Given the description of an element on the screen output the (x, y) to click on. 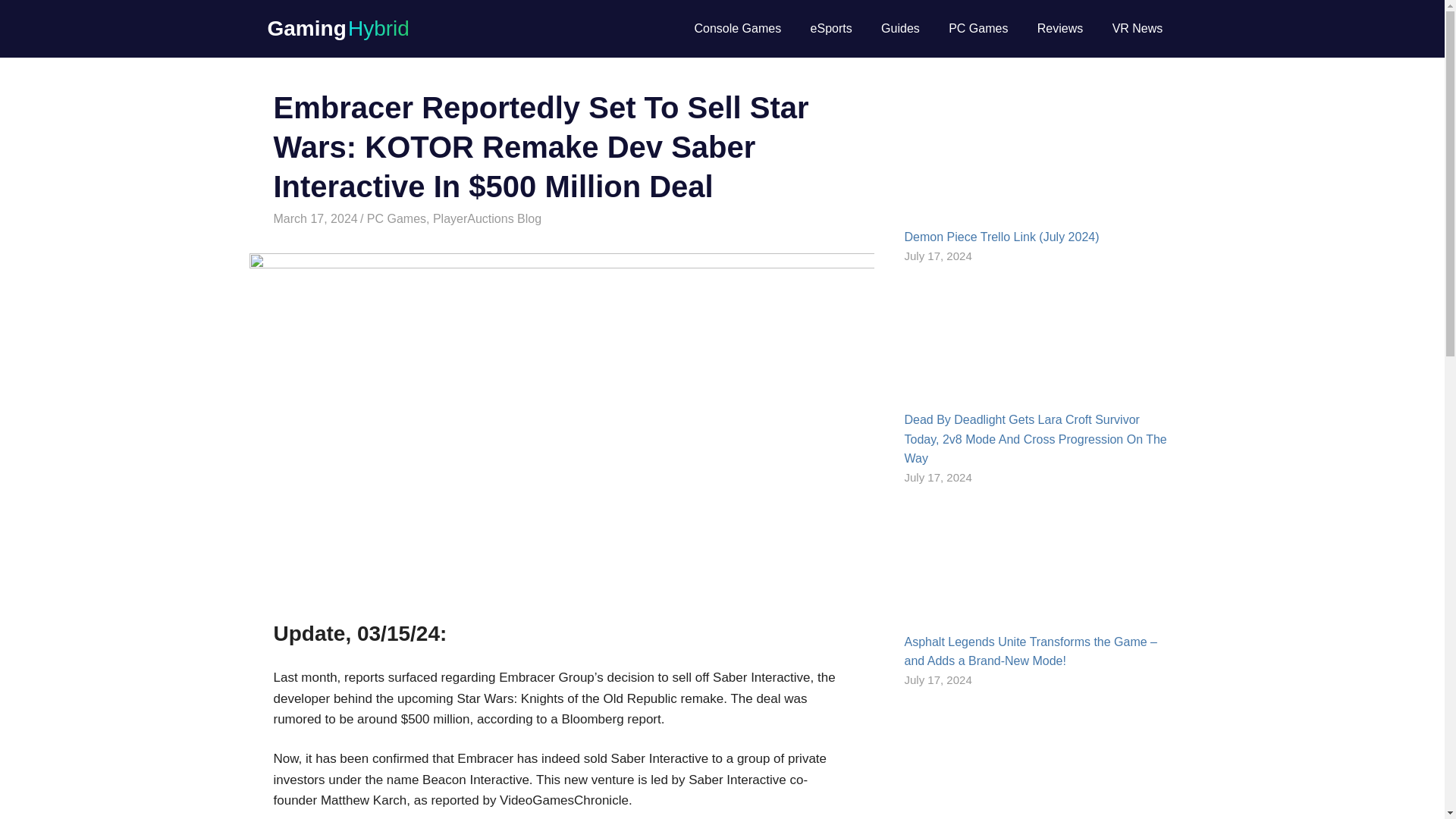
View all posts by GamingHybrid (401, 218)
PC Games (396, 218)
eSports (830, 28)
Console Games (736, 28)
Reviews (1060, 28)
5:54 pm (314, 218)
March 17, 2024 (314, 218)
PlayerAuctions Blog (486, 218)
Gaming Hybrid (337, 28)
Guides (900, 28)
PC Games (978, 28)
VR News (1136, 28)
GamingHybrid (401, 218)
